Given the description of an element on the screen output the (x, y) to click on. 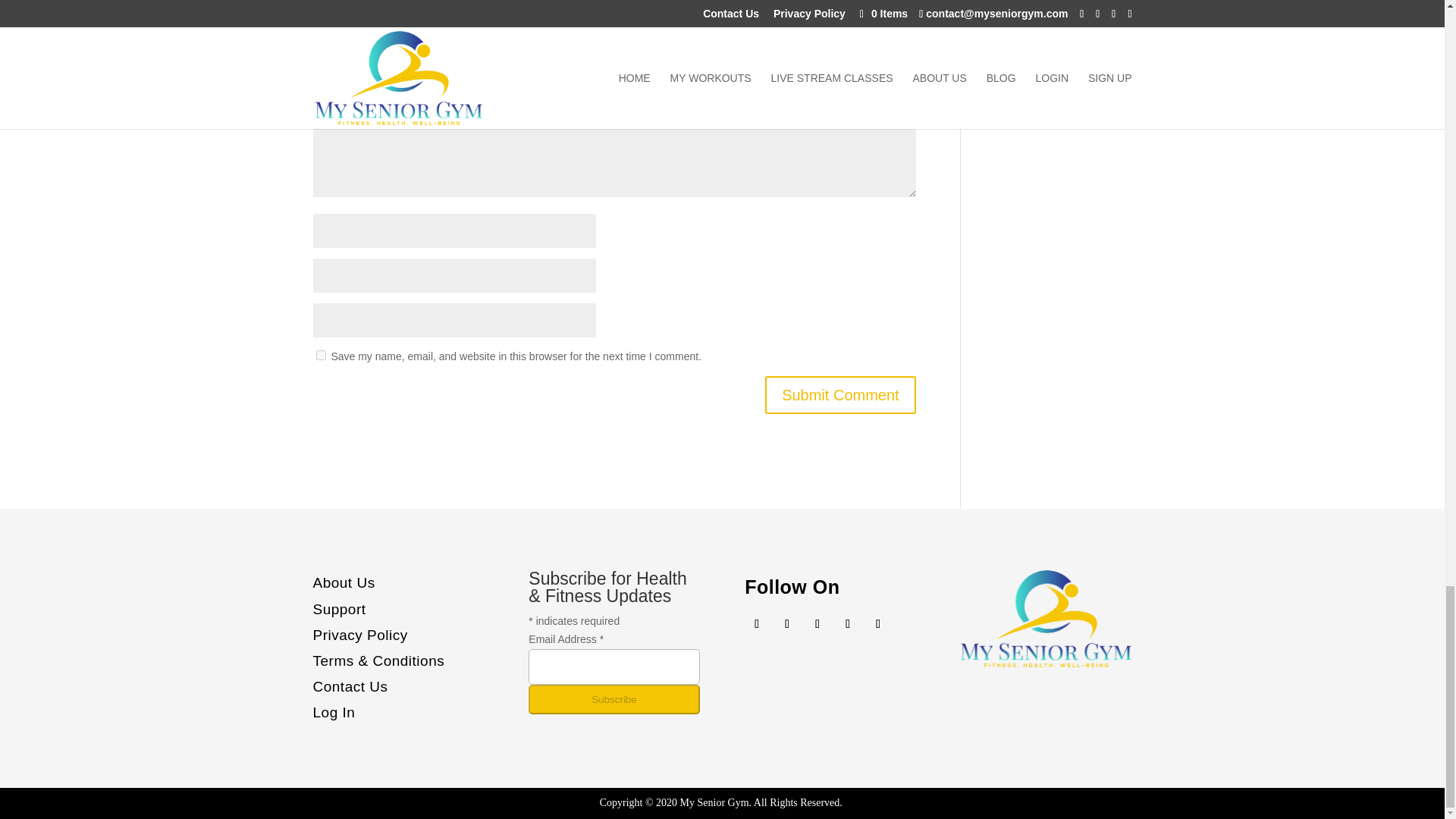
Submit Comment (840, 394)
Submit Comment (840, 394)
Follow on Facebook (756, 623)
Follow on Instagram (817, 623)
Follow on Youtube (847, 623)
yes (319, 355)
Follow on Twitter (786, 623)
Subscribe (613, 699)
